Given the description of an element on the screen output the (x, y) to click on. 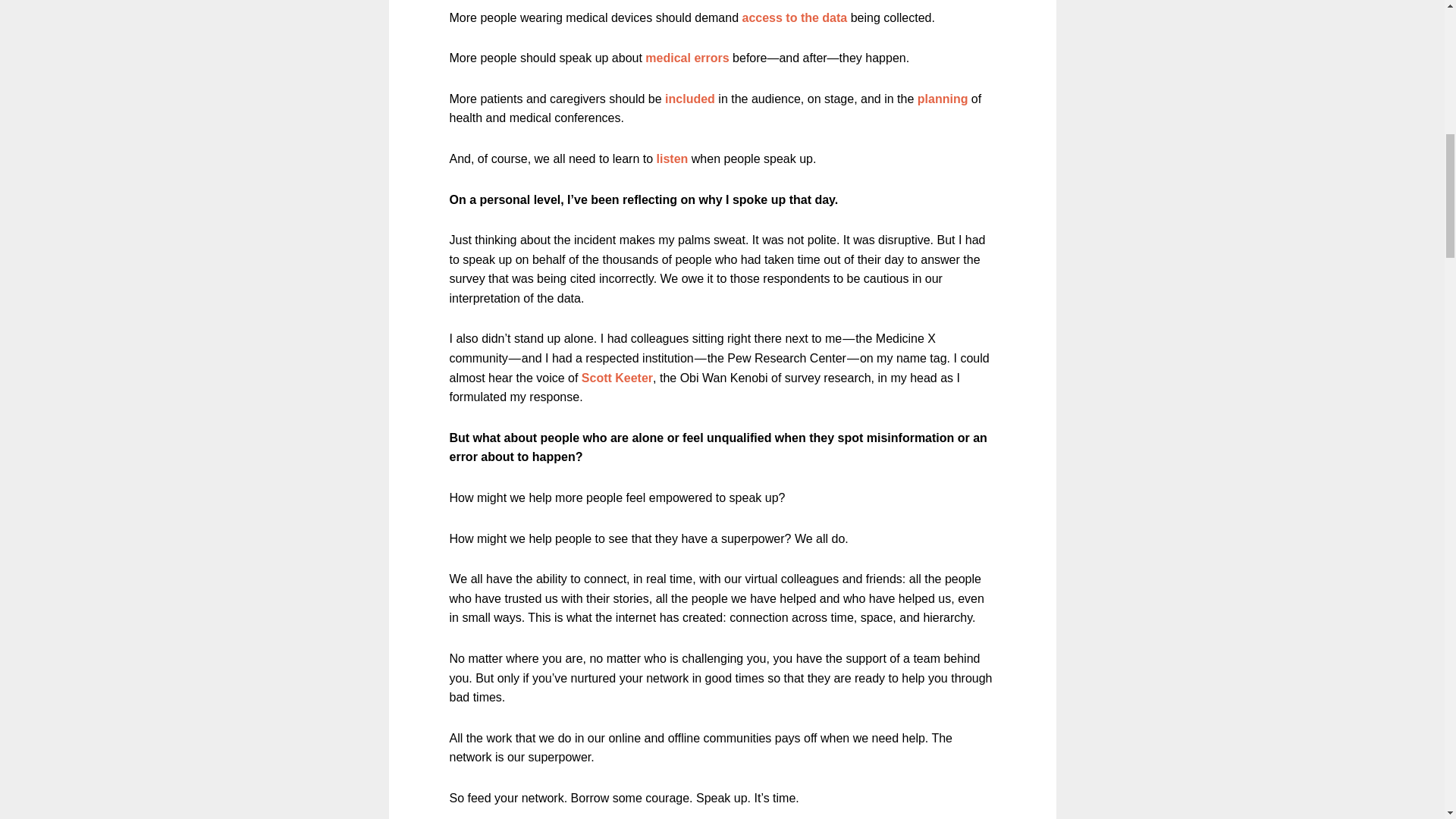
medical errors (687, 57)
access to the data (794, 17)
listen (672, 158)
included (689, 98)
Scott Keeter (616, 377)
planning (942, 98)
